Given the description of an element on the screen output the (x, y) to click on. 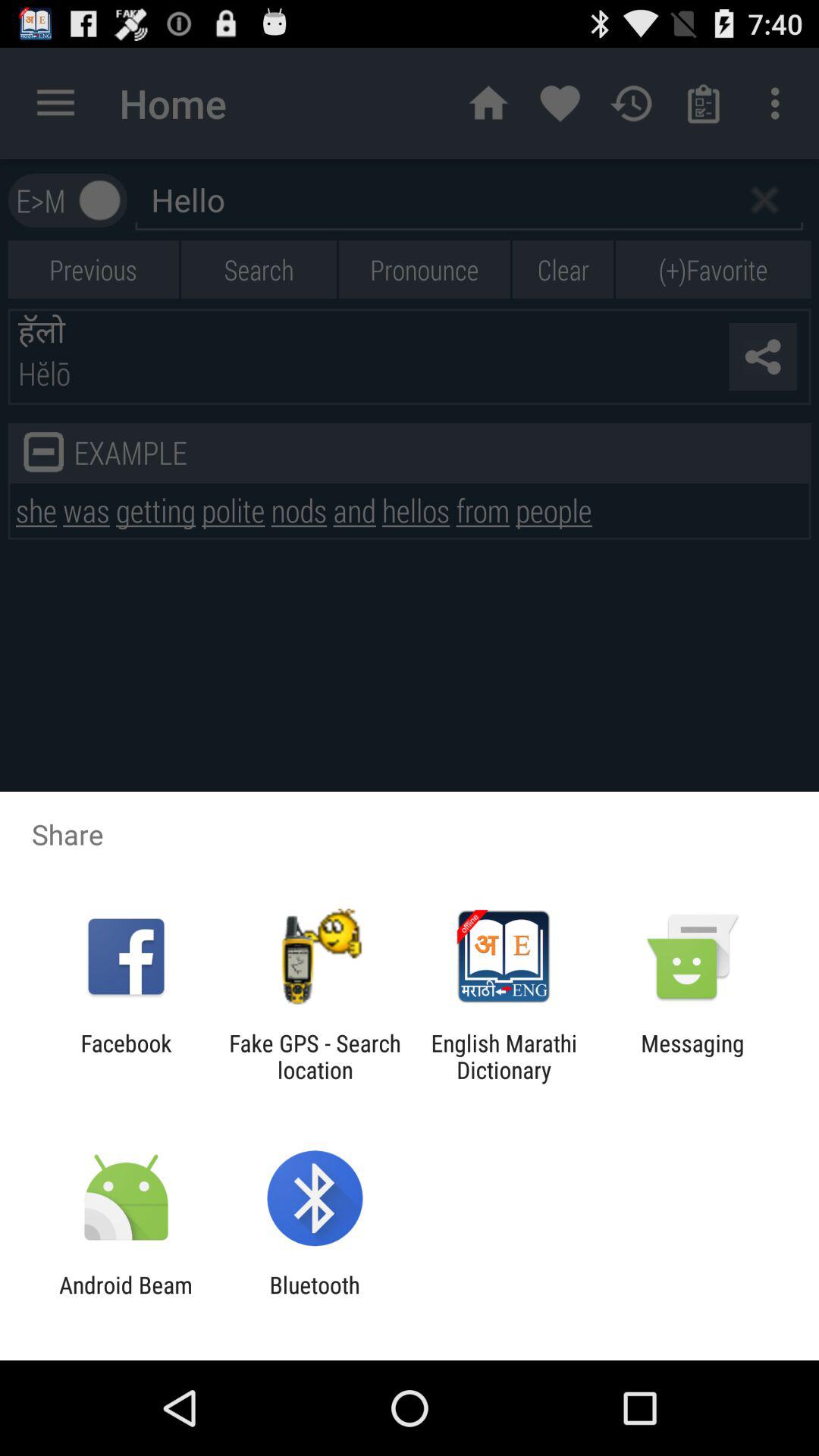
click icon to the left of messaging (503, 1056)
